Given the description of an element on the screen output the (x, y) to click on. 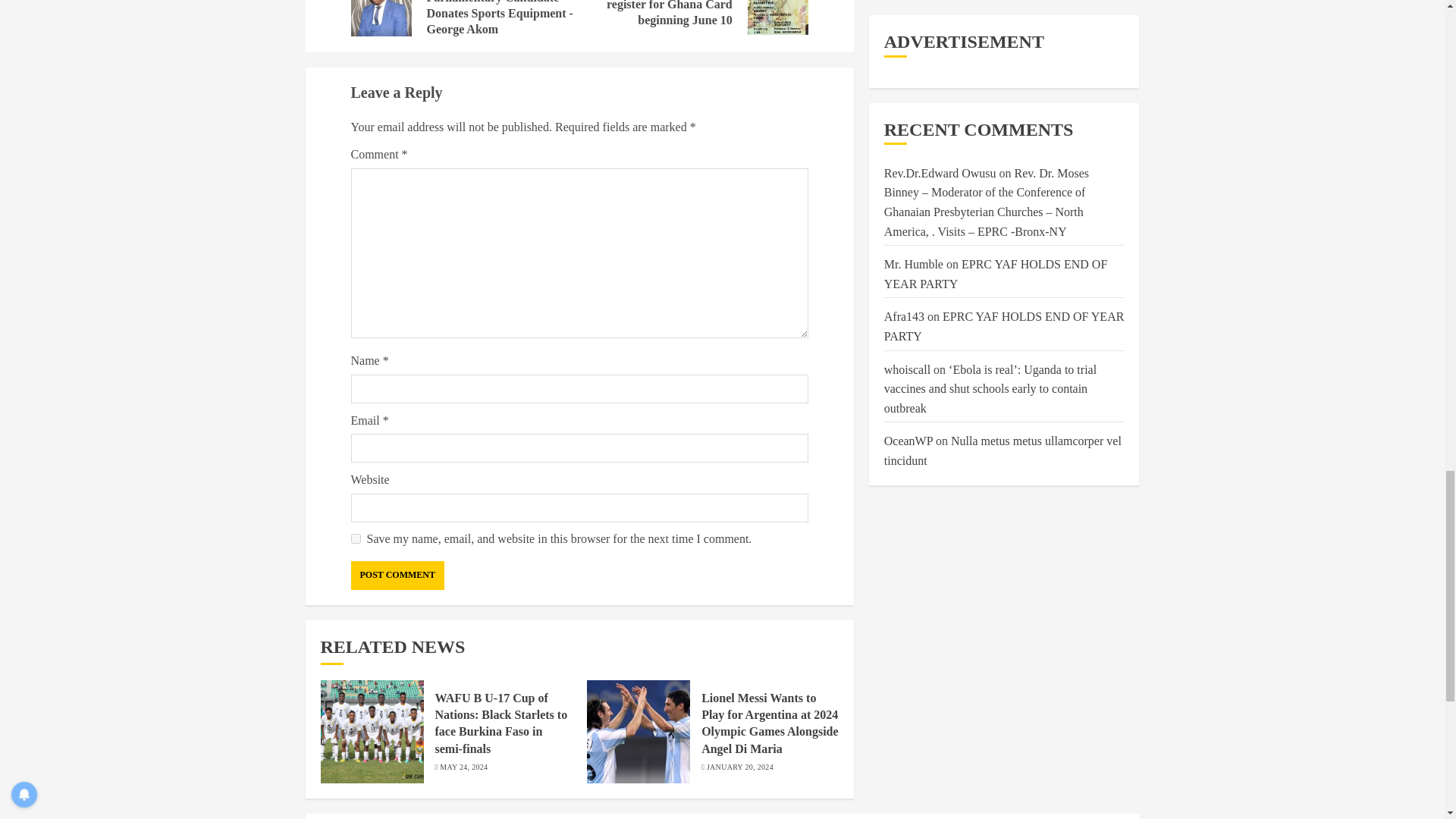
yes (354, 538)
Post Comment (397, 575)
